Given the description of an element on the screen output the (x, y) to click on. 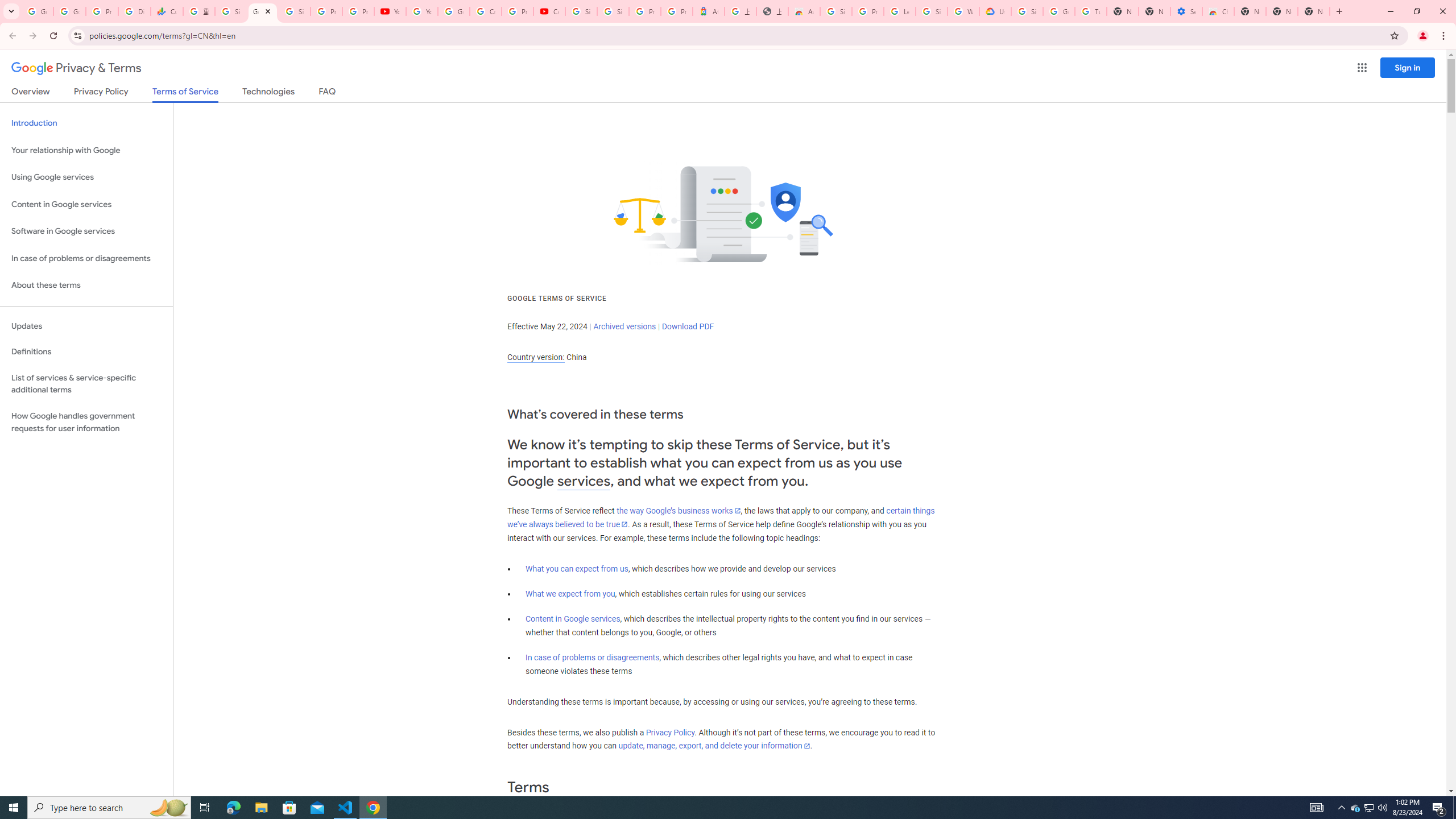
FAQ (327, 93)
Sign in - Google Accounts (931, 11)
Technologies (268, 93)
Privacy Checkup (358, 11)
Content Creator Programs & Opportunities - YouTube Creators (549, 11)
